Given the description of an element on the screen output the (x, y) to click on. 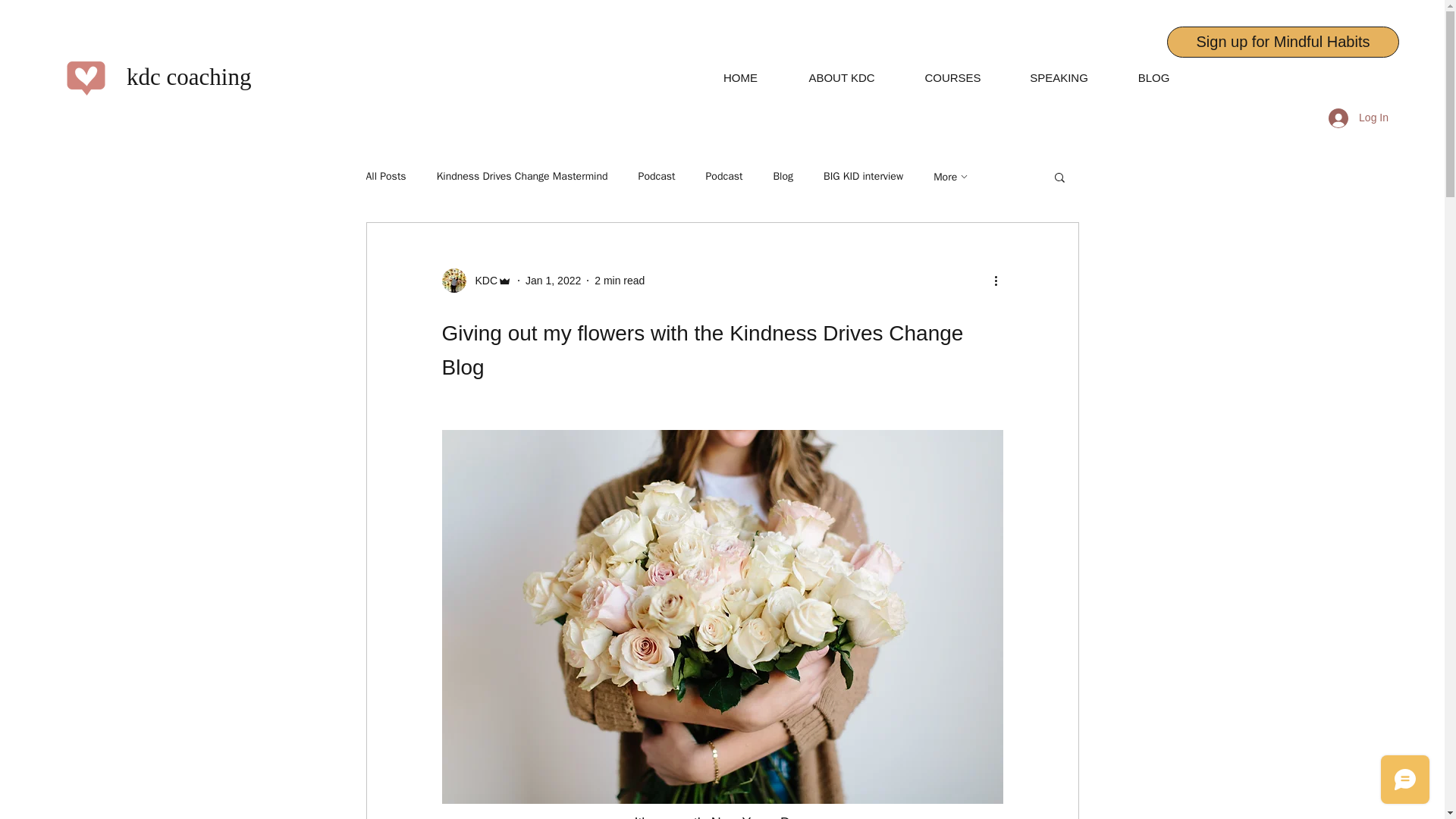
Blog (783, 176)
HOME (740, 77)
KDC (476, 280)
Podcast (657, 176)
Podcast (723, 176)
ABOUT KDC (842, 77)
2 min read (619, 280)
Sign up for Mindful Habits (1283, 41)
Jan 1, 2022 (552, 280)
Log In (1358, 117)
kdc coaching (188, 76)
BIG KID interview (863, 176)
BLOG (1153, 77)
All Posts (385, 176)
COURSES (952, 77)
